Given the description of an element on the screen output the (x, y) to click on. 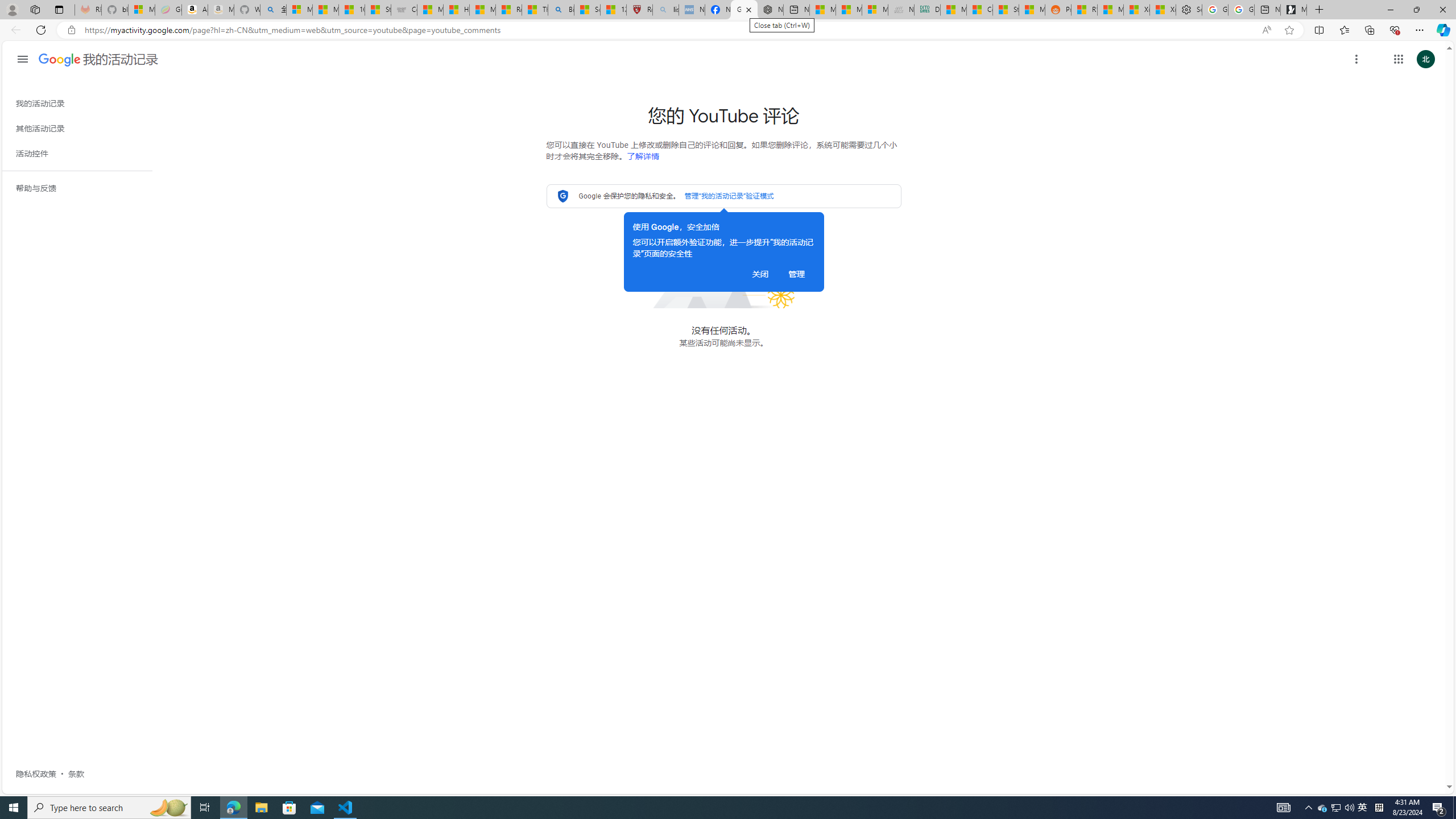
Combat Siege (403, 9)
Robert H. Shmerling, MD - Harvard Health (639, 9)
Science - MSN (587, 9)
